Given the description of an element on the screen output the (x, y) to click on. 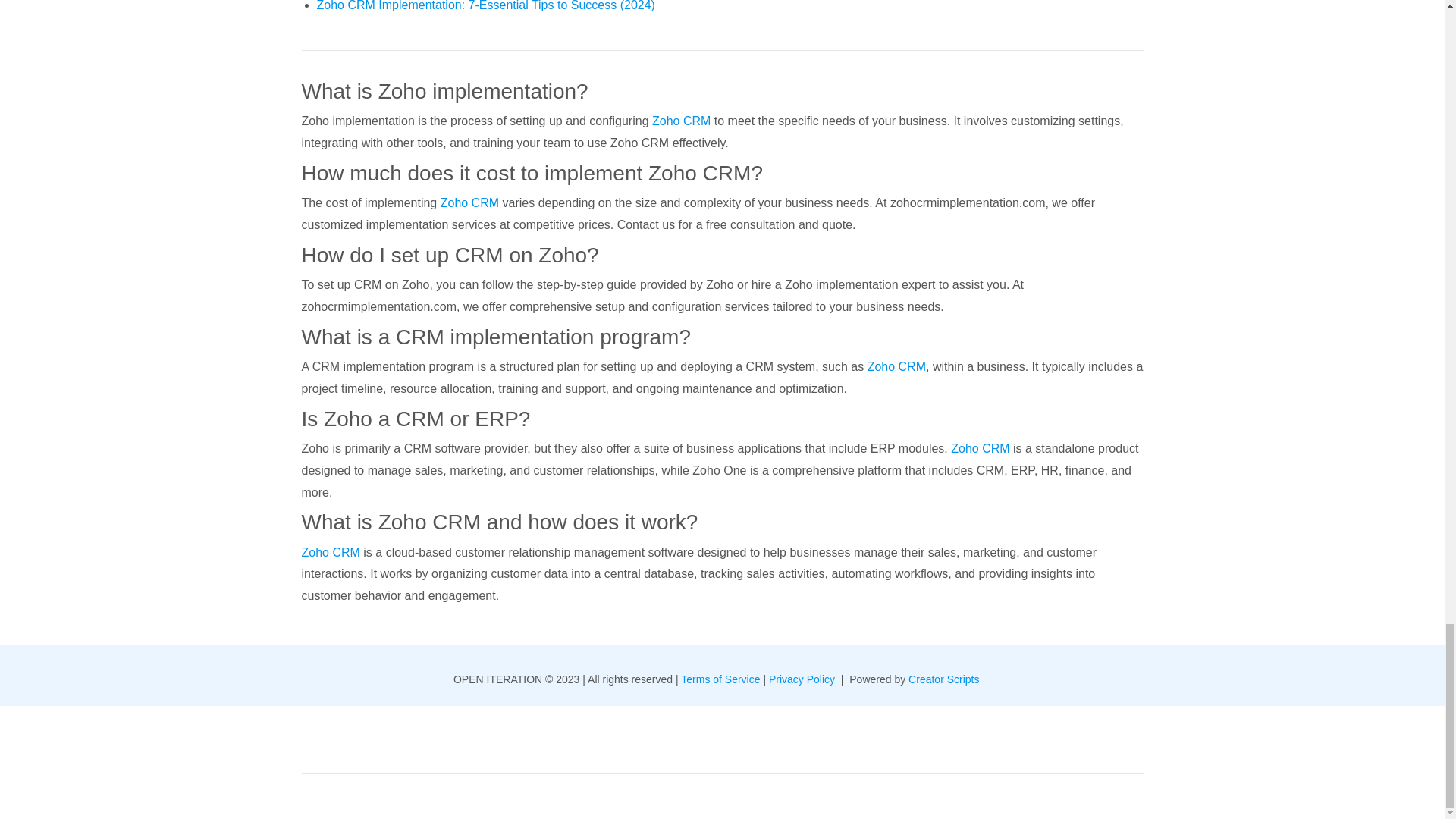
Zoho CRM (470, 202)
Privacy Policy  (803, 679)
Terms of Service (720, 679)
Zoho CRM (330, 552)
Zoho CRM (979, 448)
Zoho CRM (896, 366)
Creator Scripts  (944, 679)
Zoho CRM (681, 120)
